Given the description of an element on the screen output the (x, y) to click on. 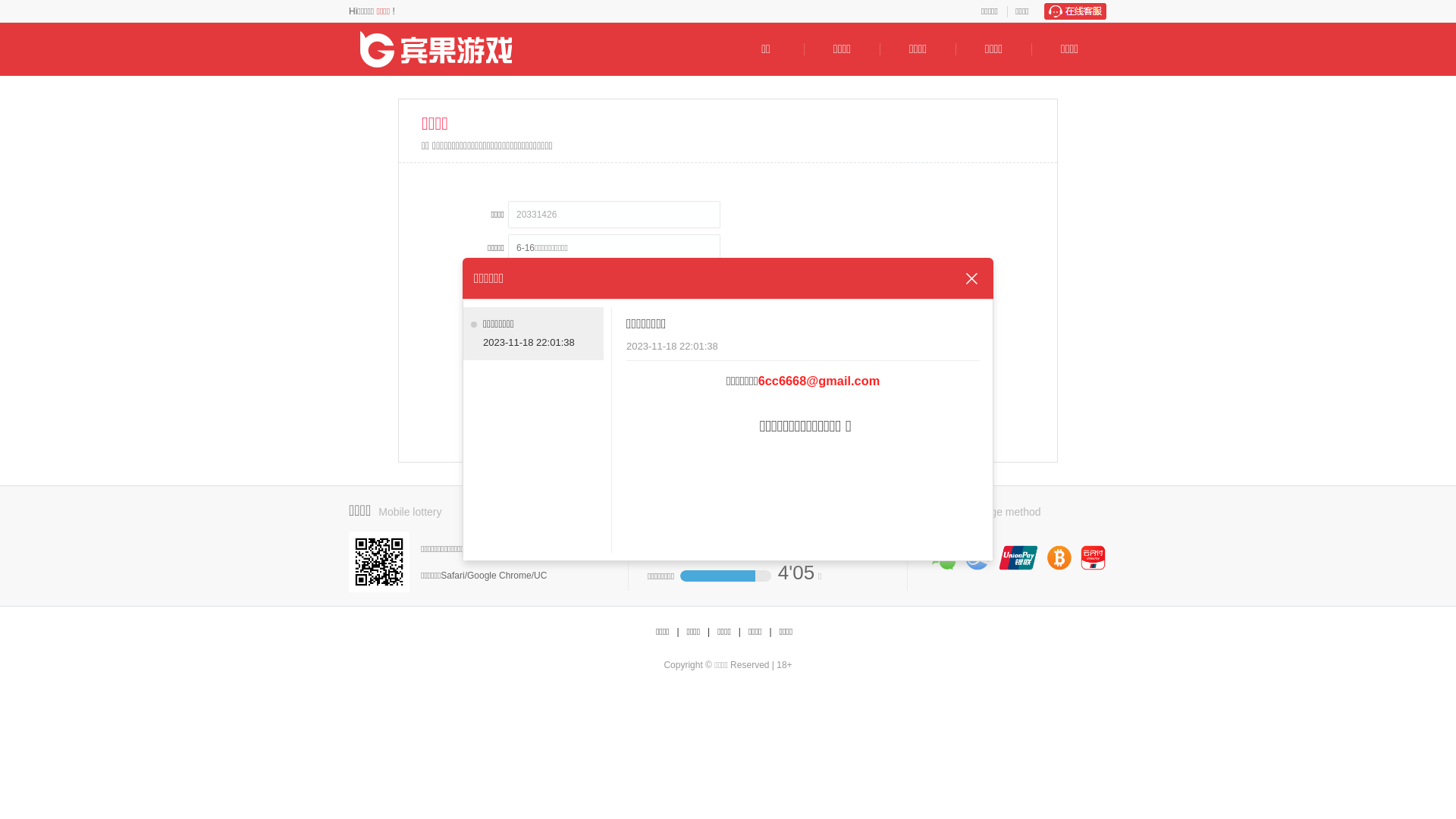
| Element type: text (708, 631)
| Element type: text (739, 631)
| Element type: text (677, 631)
| Element type: text (769, 631)
